Given the description of an element on the screen output the (x, y) to click on. 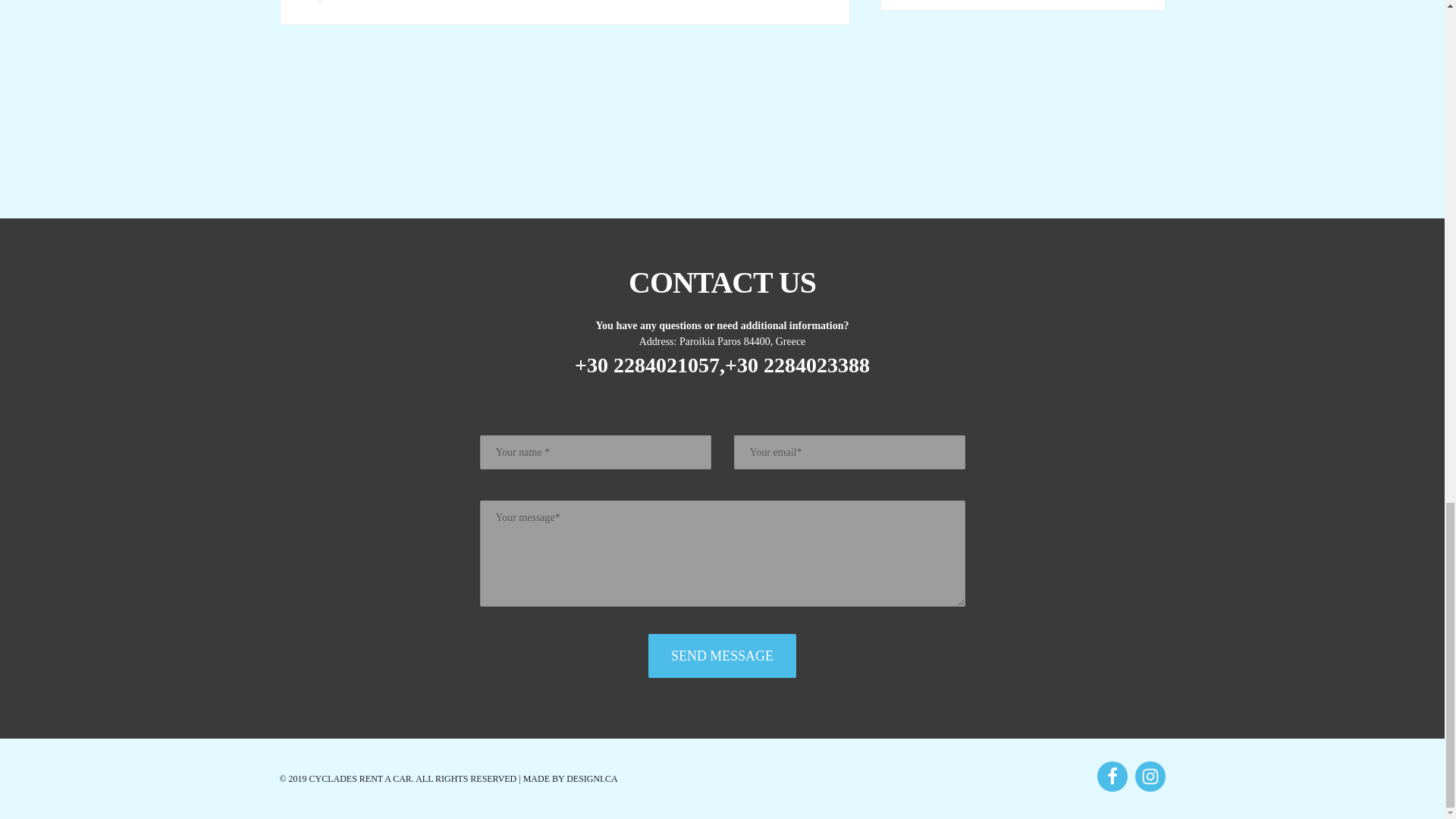
Send message (721, 655)
